Given the description of an element on the screen output the (x, y) to click on. 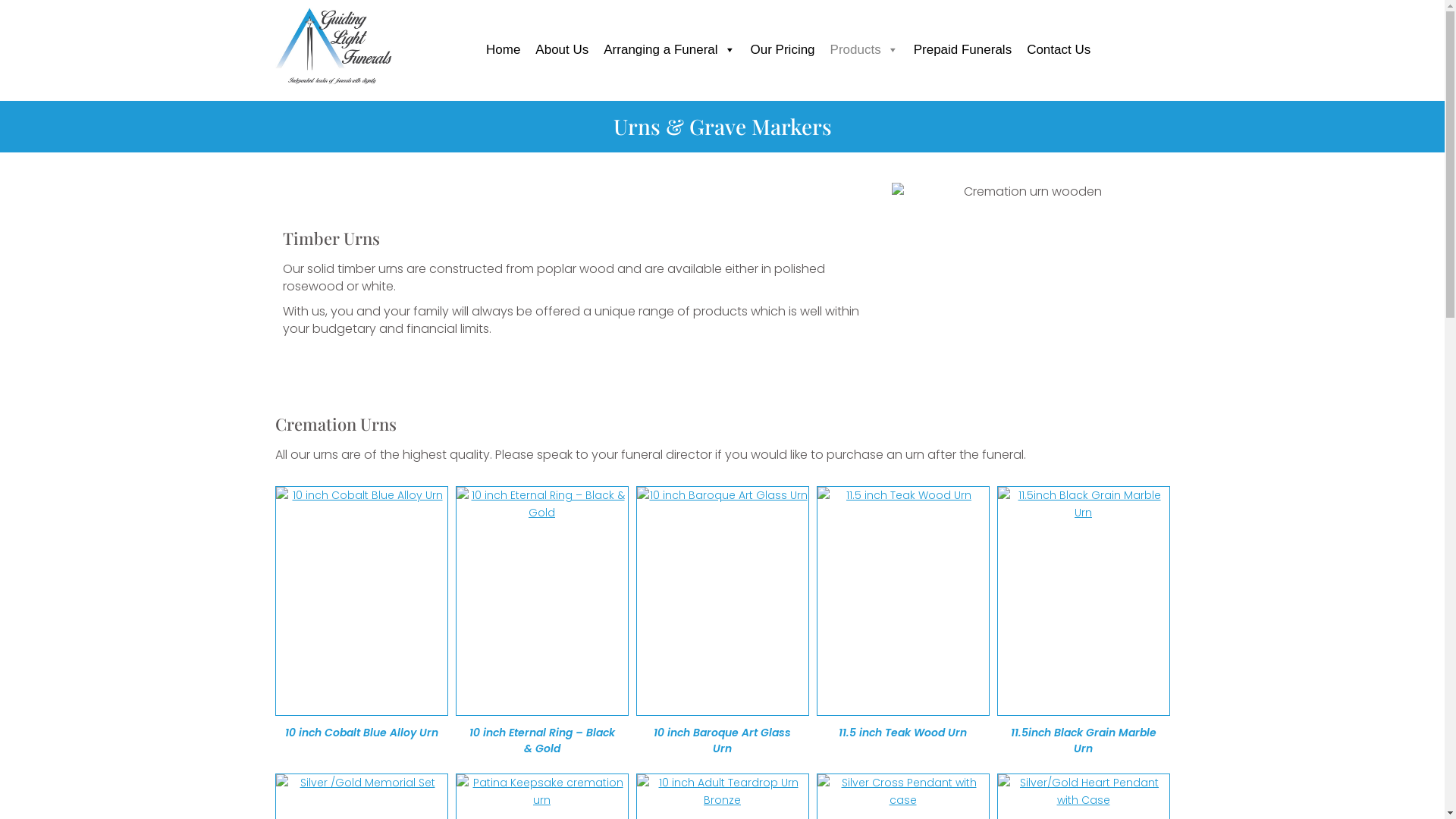
Products Element type: text (864, 49)
Prepaid Funerals Element type: text (962, 49)
Contact Us Element type: text (1058, 49)
Arranging a Funeral Element type: text (669, 49)
Home Element type: text (502, 49)
About Us Element type: text (561, 49)
Our Pricing Element type: text (782, 49)
